Given the description of an element on the screen output the (x, y) to click on. 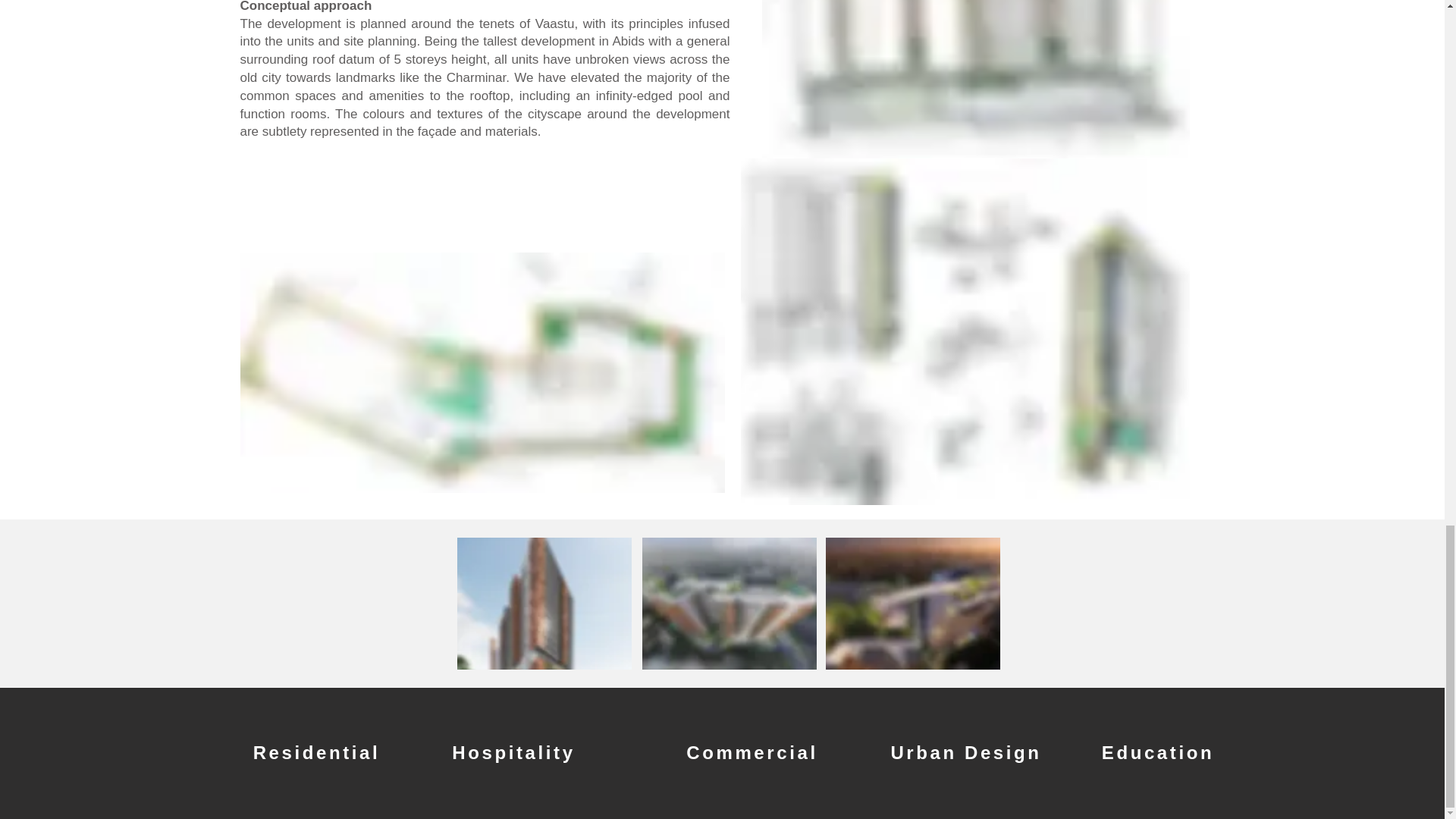
Hospitality (513, 752)
Education (1158, 752)
Commercial (751, 752)
Residential (316, 752)
Urban Design (965, 752)
